Given the description of an element on the screen output the (x, y) to click on. 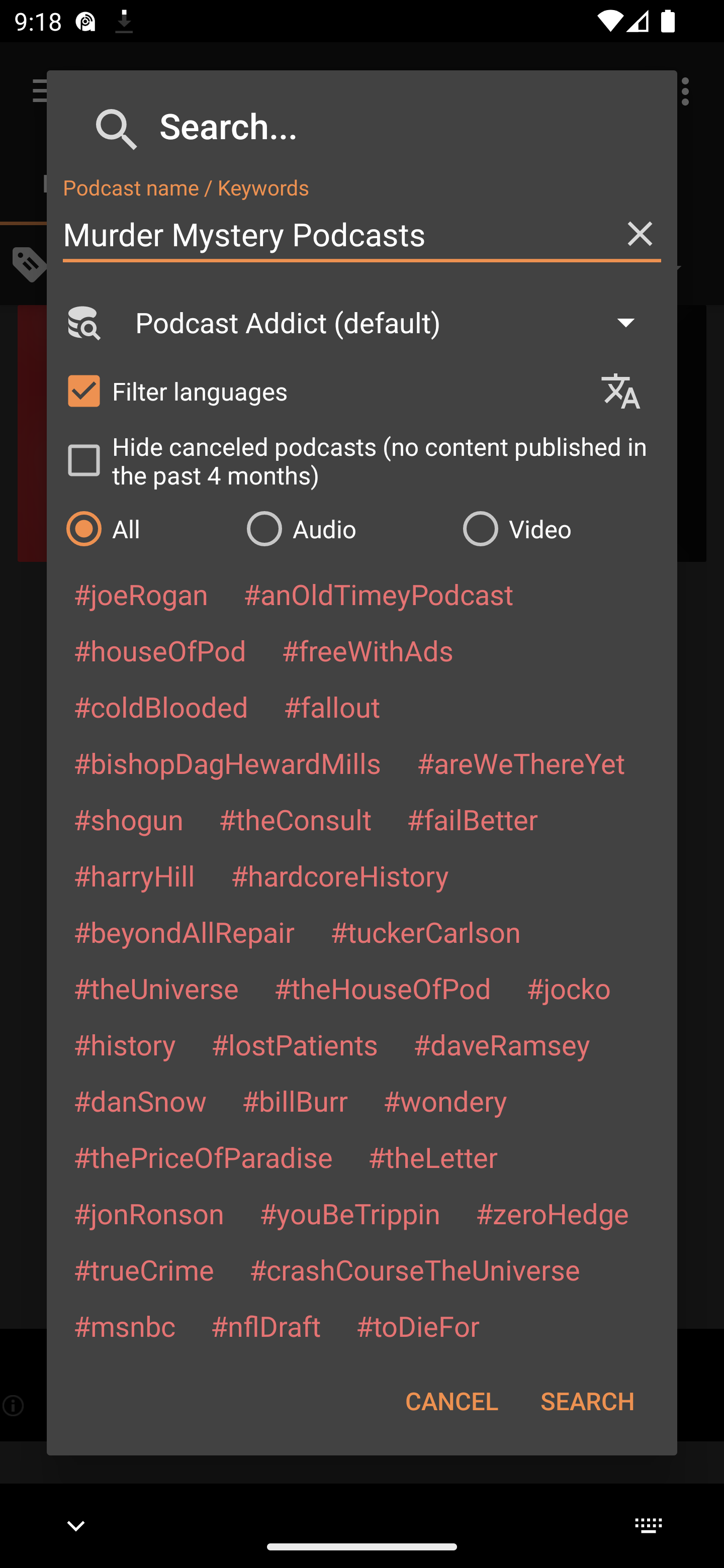
Murder Mystery Podcasts (361, 234)
Search Engine (82, 322)
Podcast Addict (default) (394, 322)
Languages selection (629, 390)
Filter languages (322, 390)
All (145, 528)
Audio (344, 528)
Video (560, 528)
#joeRogan (140, 594)
#anOldTimeyPodcast (378, 594)
#houseOfPod (159, 650)
#freeWithAds (367, 650)
#coldBlooded (160, 705)
#fallout (331, 705)
#bishopDagHewardMills (227, 762)
#areWeThereYet (521, 762)
#shogun (128, 818)
#theConsult (294, 818)
#failBetter (471, 818)
#harryHill (134, 875)
#hardcoreHistory (339, 875)
#beyondAllRepair (184, 931)
#tuckerCarlson (425, 931)
#theUniverse (155, 987)
#theHouseOfPod (381, 987)
#jocko (568, 987)
#history (124, 1044)
#lostPatients (294, 1044)
#daveRamsey (501, 1044)
#danSnow (139, 1100)
#billBurr (294, 1100)
#wondery (444, 1100)
#thePriceOfParadise (203, 1157)
#theLetter (432, 1157)
#jonRonson (148, 1213)
#youBeTrippin (349, 1213)
#zeroHedge (552, 1213)
#trueCrime (143, 1268)
#crashCourseTheUniverse (414, 1268)
#msnbc (124, 1325)
#nflDraft (265, 1325)
#toDieFor (417, 1325)
CANCEL (451, 1400)
SEARCH (587, 1400)
